Given the description of an element on the screen output the (x, y) to click on. 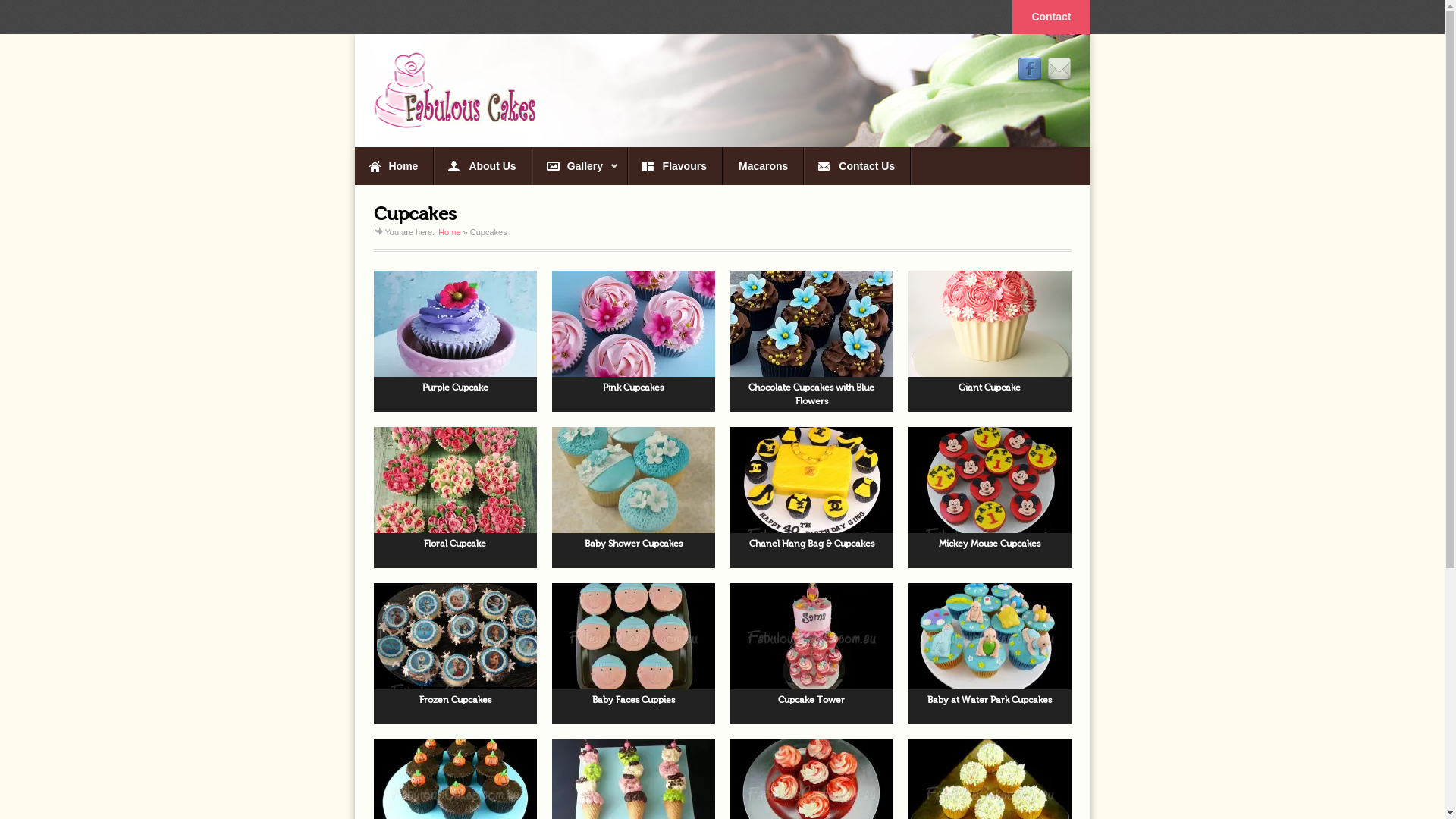
facebook Element type: hover (1029, 69)
Macarons Element type: text (762, 166)
Pink Cupcakes Element type: text (633, 340)
Contact Element type: text (1050, 17)
Home Element type: text (449, 231)
Fabulous Cakes Element type: hover (454, 90)
Floral Cupcake Element type: text (454, 496)
Mickey Mouse Cupcakes Element type: text (989, 496)
mail Element type: hover (1058, 69)
Home Element type: text (394, 166)
Purple Cupcake Element type: text (454, 340)
Chocolate Cupcakes with Blue Flowers Element type: text (810, 340)
Baby at Water Park Cupcakes Element type: text (989, 653)
Cupcake Tower Element type: text (810, 653)
Baby Shower Cupcakes Element type: text (633, 496)
Frozen Cupcakes Element type: text (454, 653)
About Us Element type: text (482, 166)
Giant Cupcake Element type: text (989, 340)
Baby Faces Cuppies Element type: text (633, 653)
Contact Us Element type: text (856, 166)
Chanel Hang Bag & Cupcakes Element type: text (810, 496)
Flavours Element type: text (674, 166)
